Given the description of an element on the screen output the (x, y) to click on. 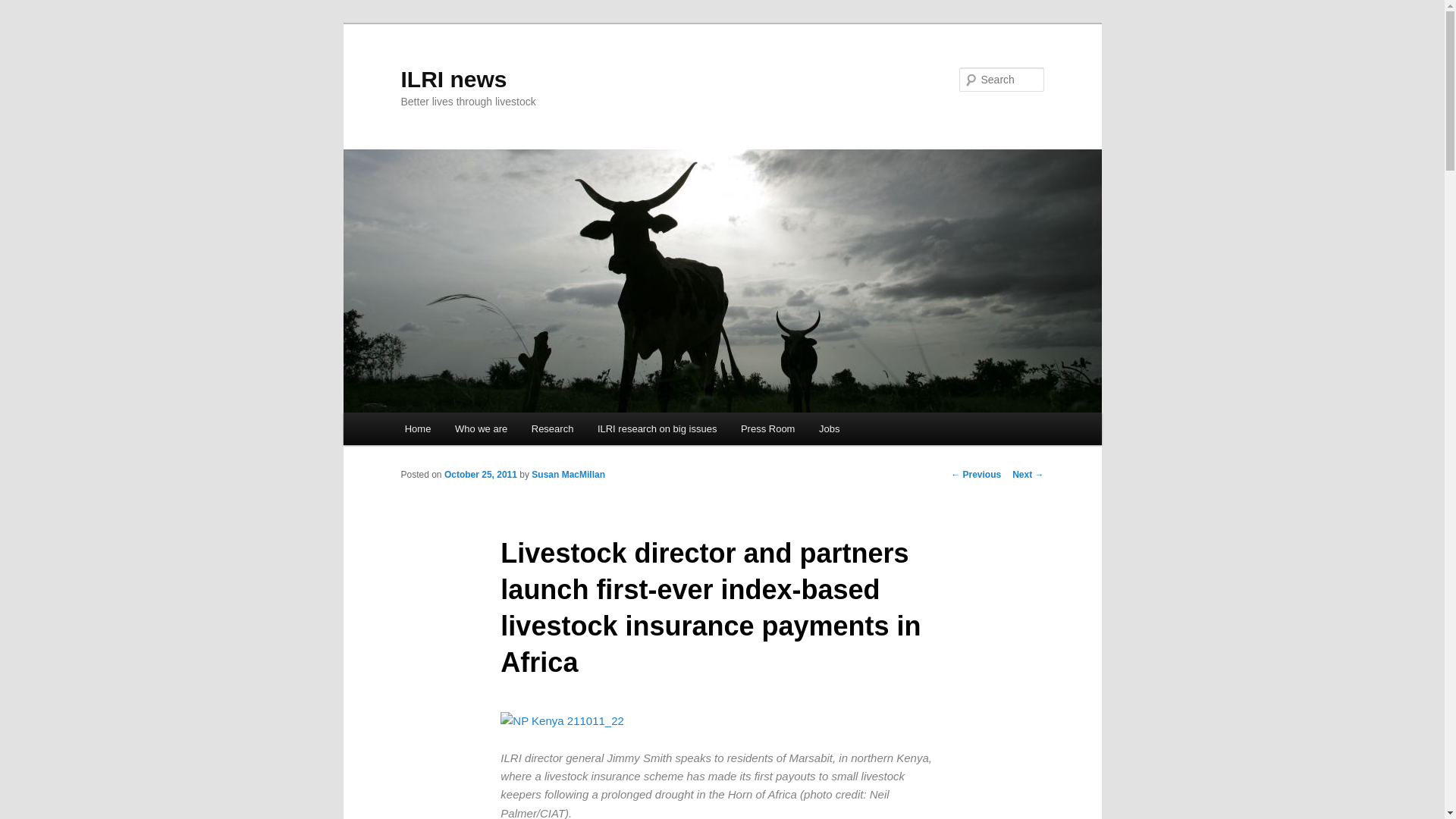
Press Room (767, 428)
Research (552, 428)
ILRI research on big issues (657, 428)
Search (24, 8)
Jobs (828, 428)
Who we are (480, 428)
ILRI news (453, 78)
Susan MacMillan (568, 474)
View all posts by Susan MacMillan (568, 474)
Home (417, 428)
October 25, 2011 (480, 474)
6:30 am (480, 474)
Who we are (480, 428)
